Given the description of an element on the screen output the (x, y) to click on. 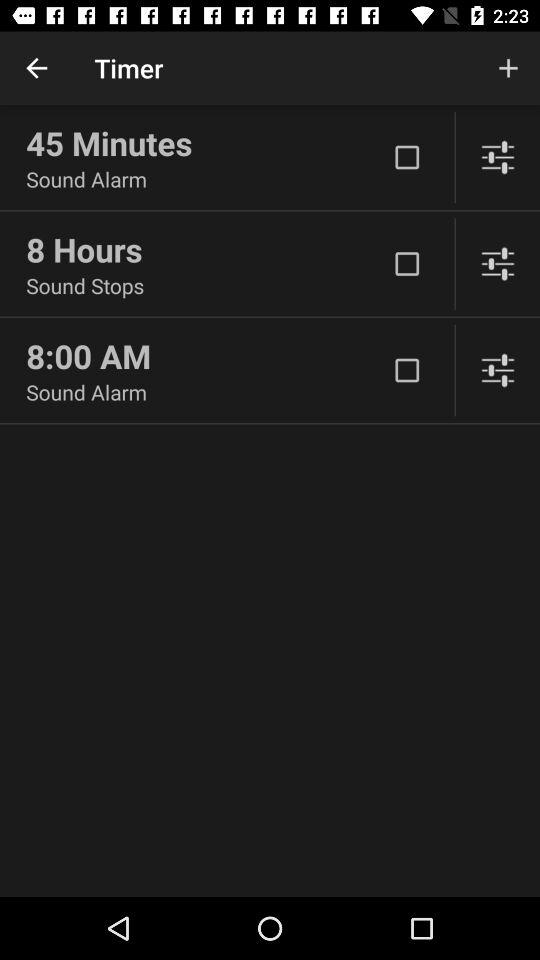
choose item above the 8:00 am (206, 285)
